Given the description of an element on the screen output the (x, y) to click on. 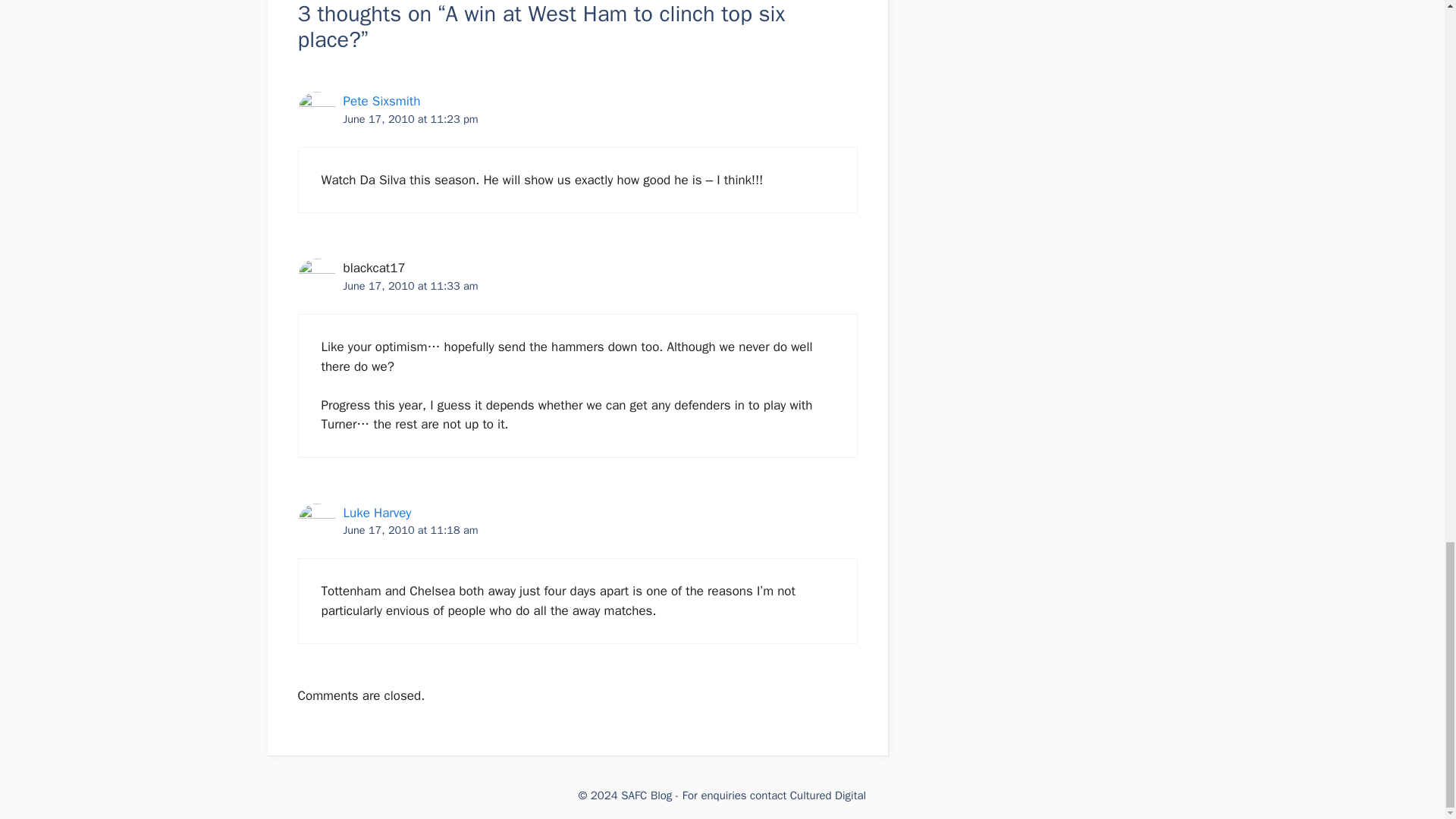
June 17, 2010 at 11:18 am (409, 530)
Luke Harvey (376, 512)
June 17, 2010 at 11:23 pm (409, 119)
June 17, 2010 at 11:33 am (409, 285)
Pete Sixsmith (381, 100)
